Given the description of an element on the screen output the (x, y) to click on. 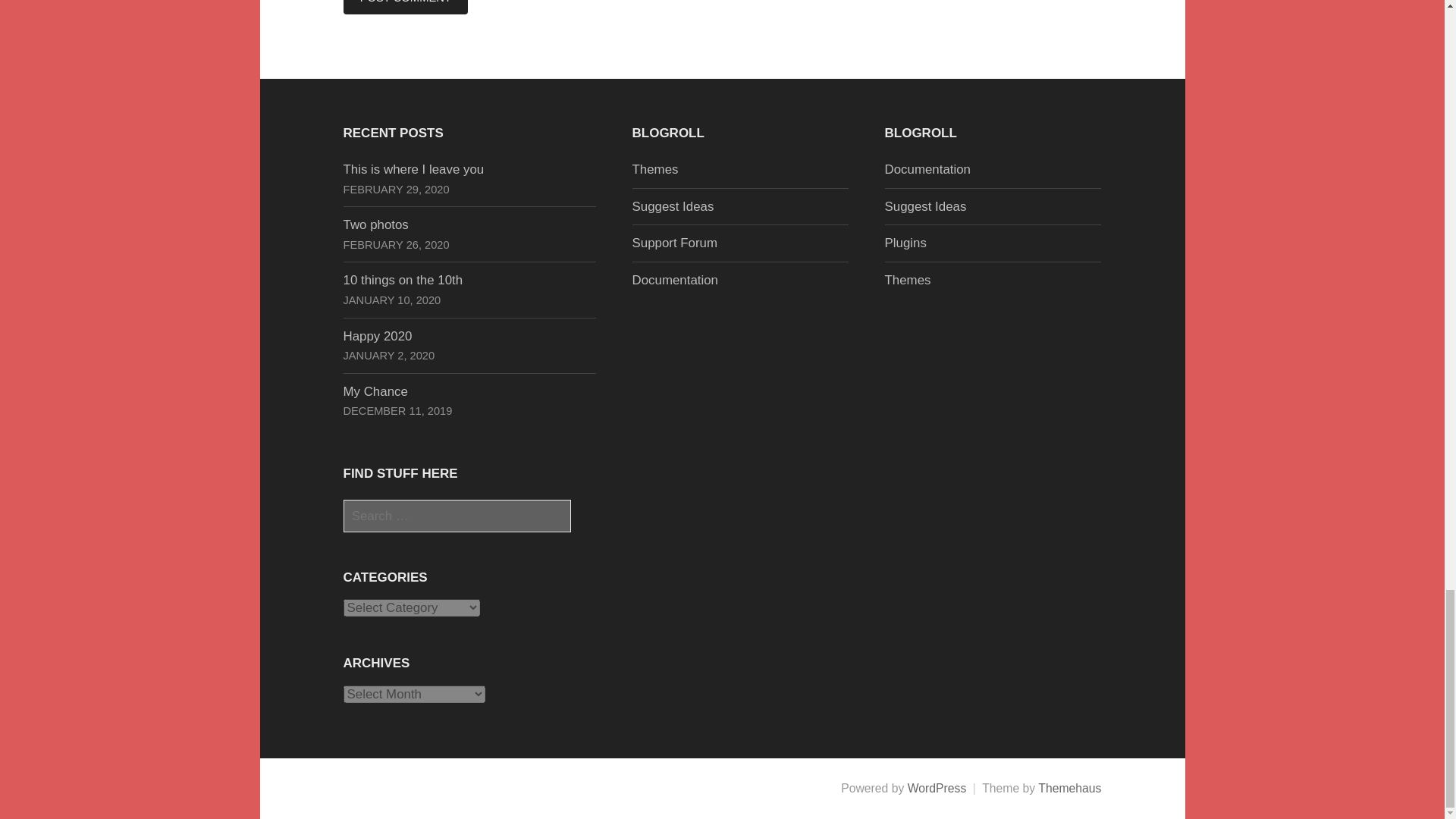
This is where I leave you (412, 169)
My Chance (374, 391)
10 things on the 10th (402, 279)
Post Comment (404, 7)
Two photos (374, 224)
Happy 2020 (377, 336)
Post Comment (404, 7)
